Given the description of an element on the screen output the (x, y) to click on. 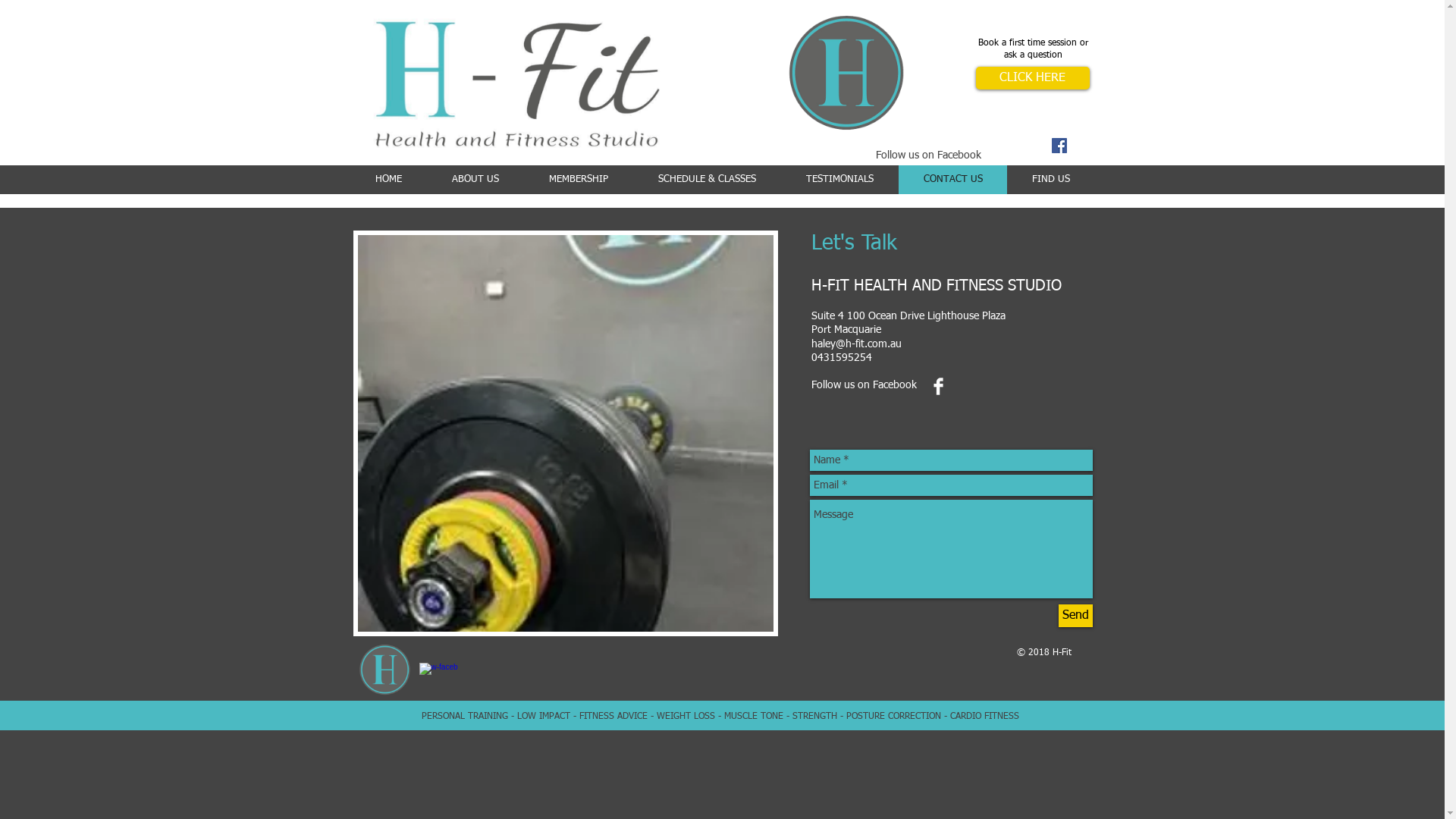
MEMBERSHIP Element type: text (577, 179)
CONTACT US Element type: text (951, 179)
HOME Element type: text (388, 179)
ABOUT US Element type: text (474, 179)
Send Element type: text (1075, 615)
FIND US Element type: text (1050, 179)
SCHEDULE & CLASSES Element type: text (706, 179)
TESTIMONIALS Element type: text (839, 179)
haley@h-fit.com.au Element type: text (856, 343)
CLICK HERE Element type: text (1031, 77)
